Given the description of an element on the screen output the (x, y) to click on. 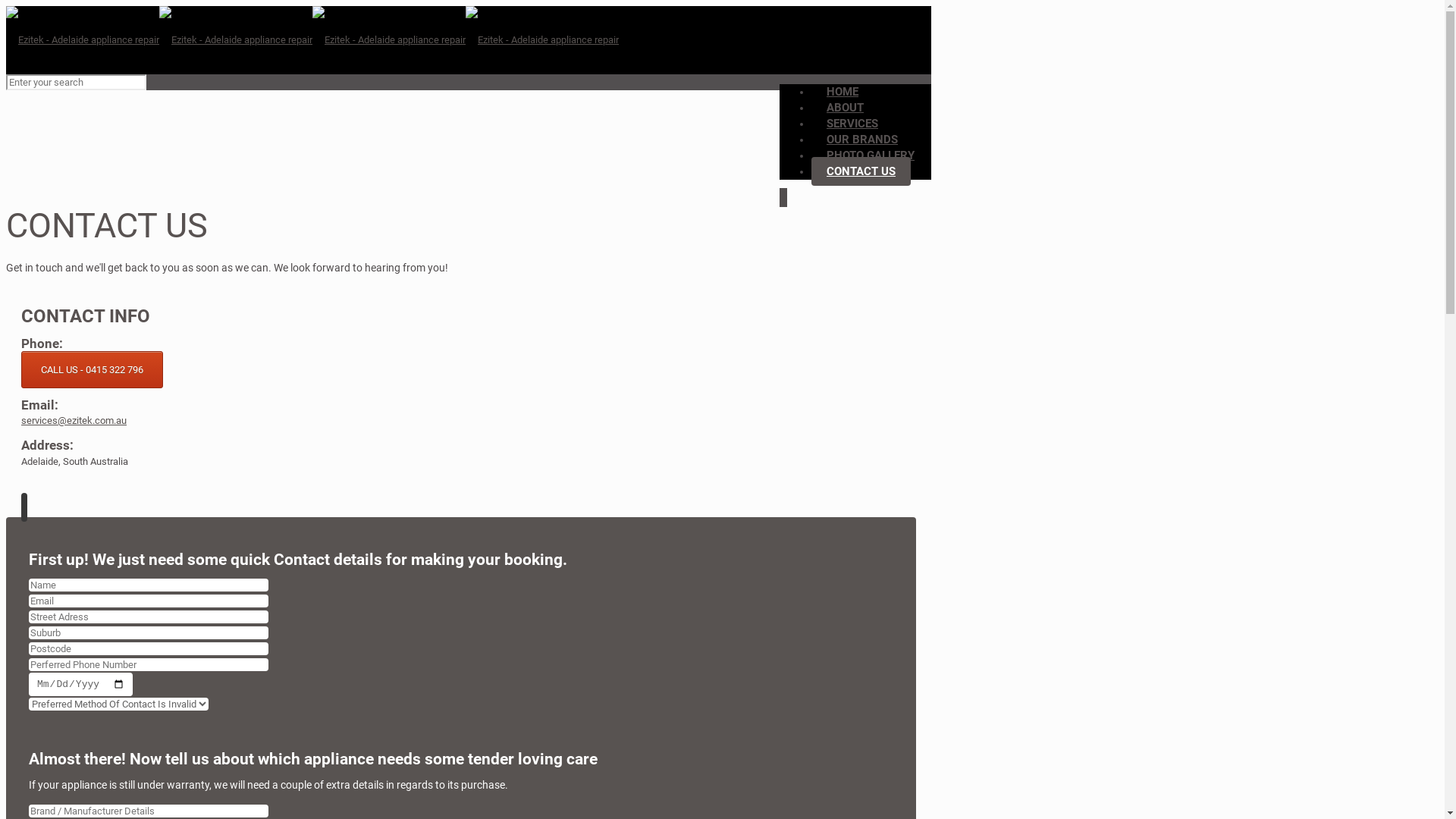
PHOTO GALLERY Element type: text (870, 155)
CALL US - 0415 322 796 Element type: text (92, 369)
OUR BRANDS Element type: text (862, 139)
Ezitek - Adelaide whiteware and appliance repairs Element type: hover (312, 39)
CONTACT US Element type: text (860, 171)
HOME Element type: text (842, 91)
SERVICES Element type: text (852, 123)
services@ezitek.com.au Element type: text (73, 420)
ABOUT Element type: text (844, 107)
